Given the description of an element on the screen output the (x, y) to click on. 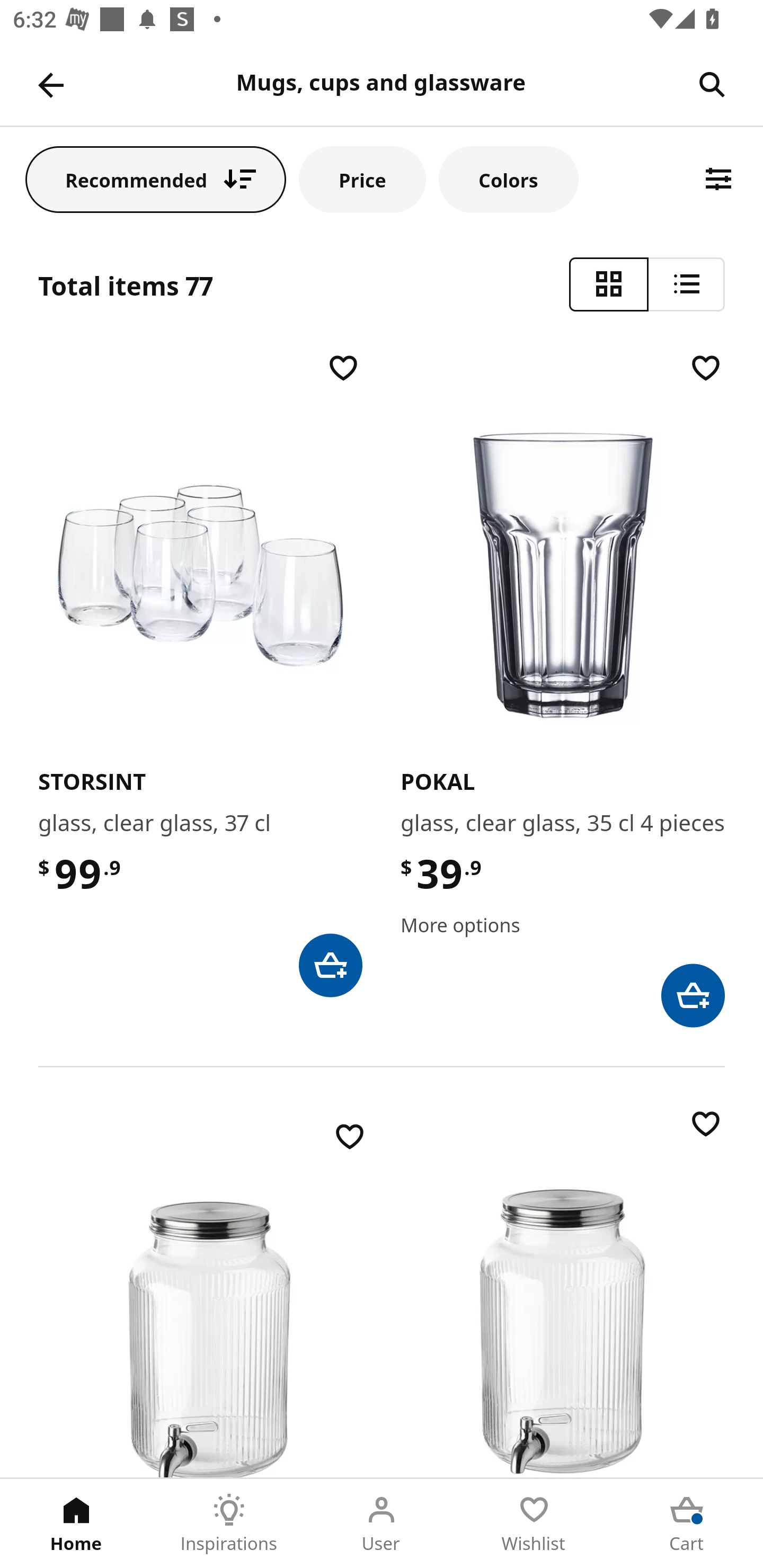
Recommended (155, 179)
Price (362, 179)
Colors (508, 179)
​V​A​R​D​A​G​E​N​
jar with tap, 5.0 l
$
149
.9 (562, 1291)
​V​A​R​D​A​G​E​N​
jar with tap, 5.0 l
$
149
.9 (209, 1297)
Home
Tab 1 of 5 (76, 1522)
Inspirations
Tab 2 of 5 (228, 1522)
User
Tab 3 of 5 (381, 1522)
Wishlist
Tab 4 of 5 (533, 1522)
Cart
Tab 5 of 5 (686, 1522)
